Given the description of an element on the screen output the (x, y) to click on. 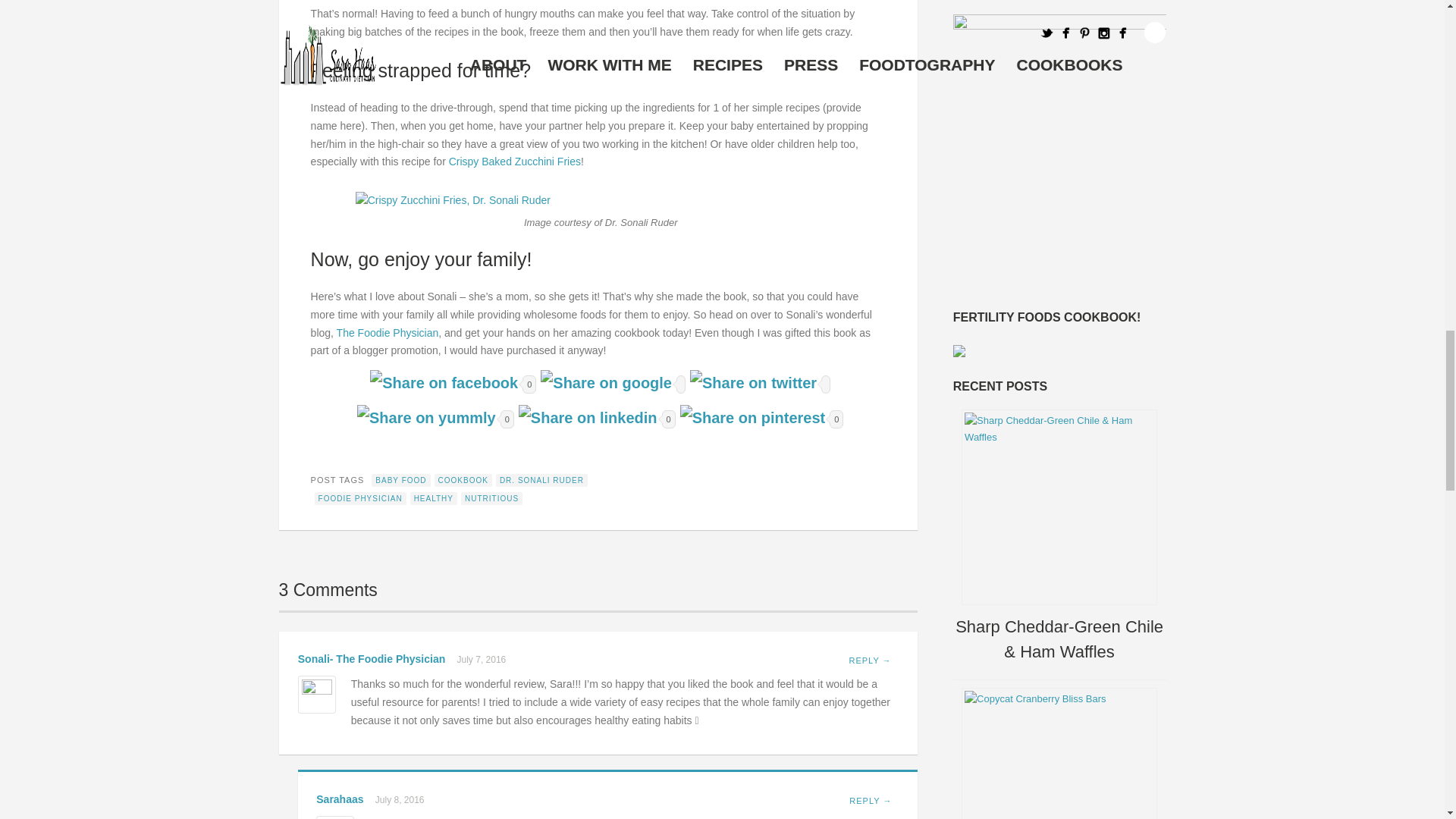
yummly (426, 417)
facebook (443, 382)
google (606, 382)
twitter (753, 382)
